Given the description of an element on the screen output the (x, y) to click on. 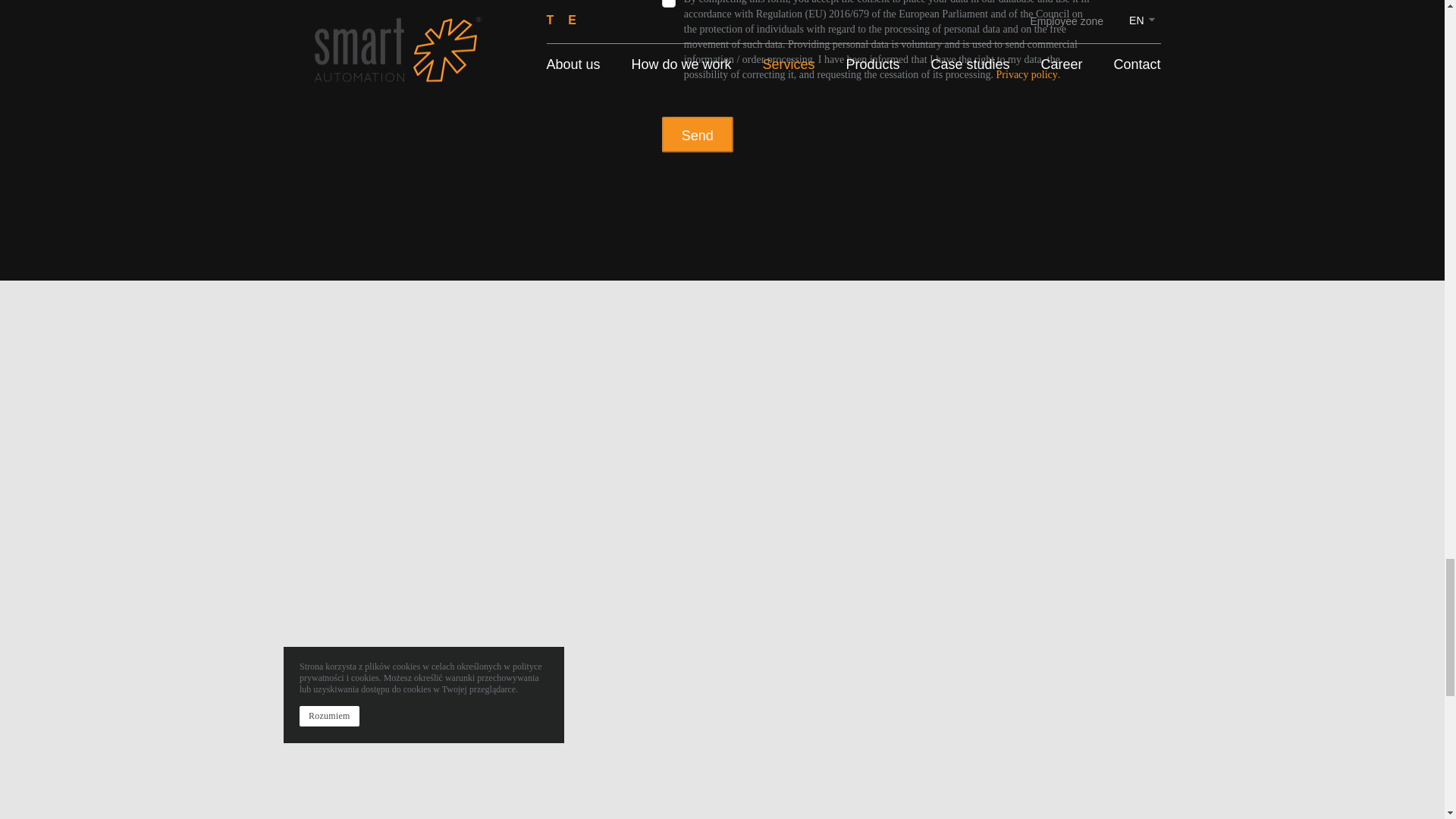
Send (697, 134)
